Given the description of an element on the screen output the (x, y) to click on. 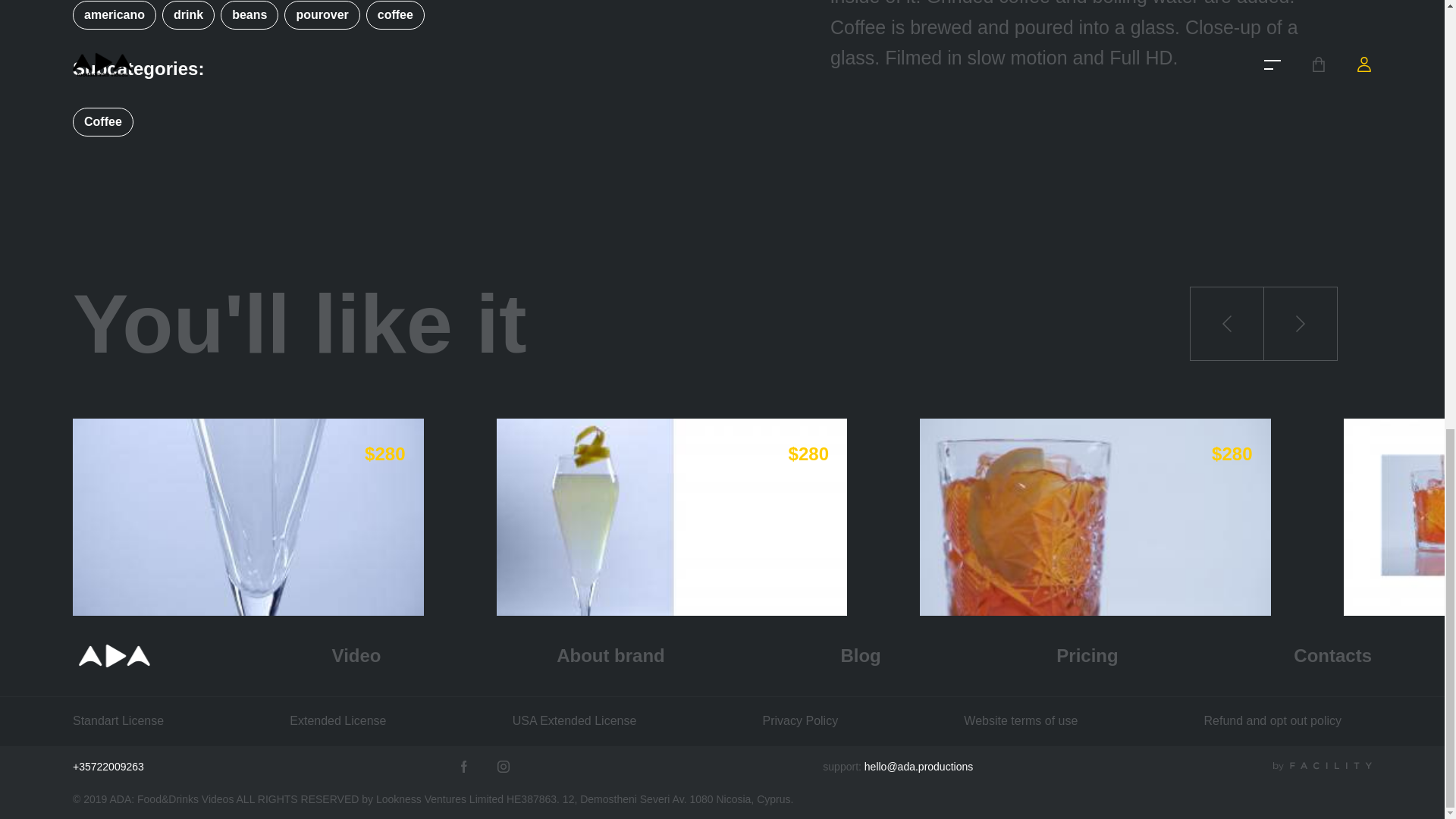
drink (188, 14)
pourover (321, 14)
americano (114, 14)
beans (249, 14)
Coffee (103, 121)
coffee (394, 14)
